Given the description of an element on the screen output the (x, y) to click on. 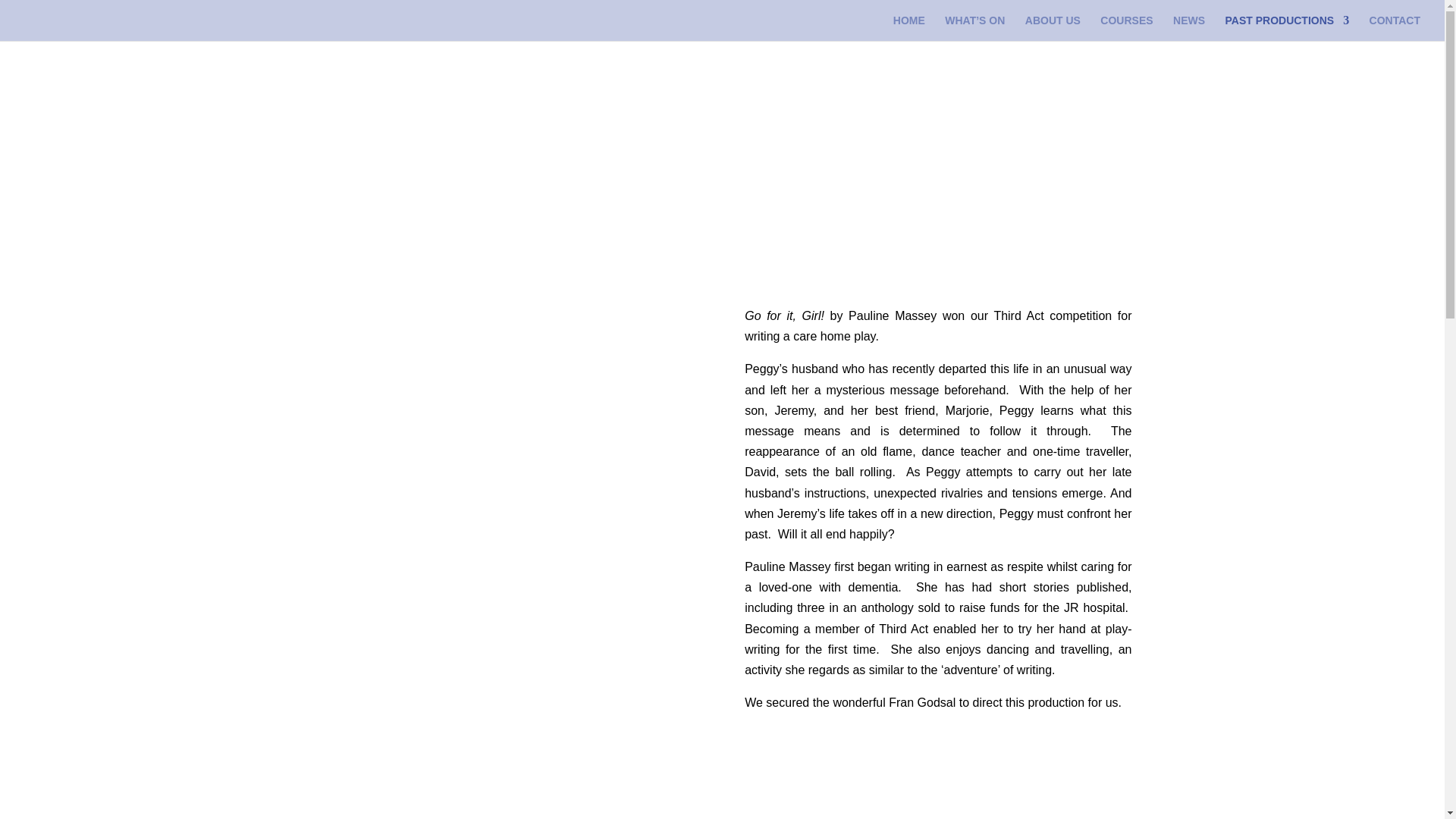
NEWS (1189, 27)
COURSES (1126, 27)
HOME (908, 27)
CONTACT (1395, 27)
ABOUT US (1052, 27)
PAST PRODUCTIONS (1287, 27)
